Given the description of an element on the screen output the (x, y) to click on. 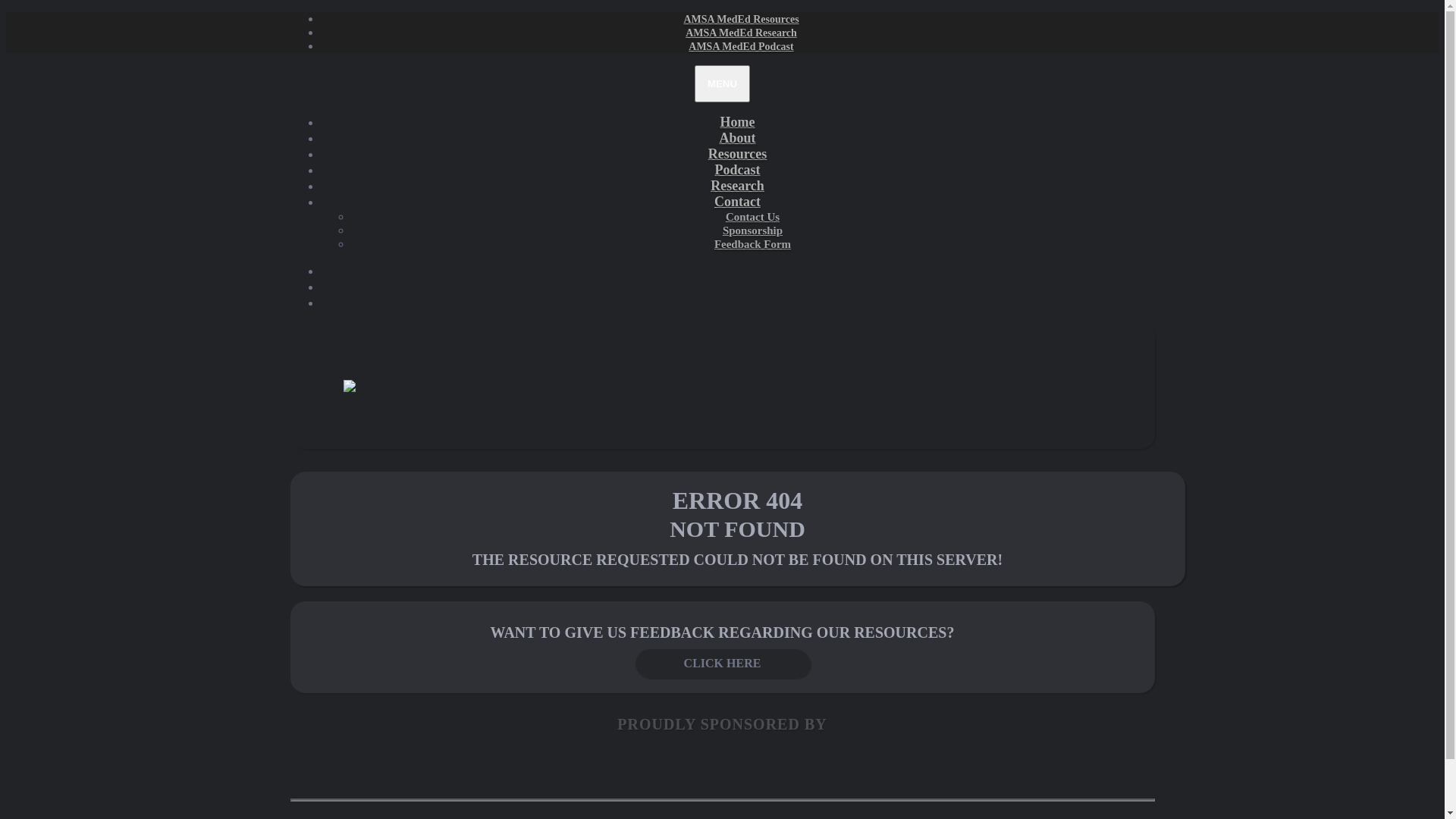
Podcast Element type: text (737, 169)
Feedback Form Element type: text (752, 244)
Research Element type: text (737, 185)
Contact Us Element type: text (752, 216)
Home Element type: text (737, 121)
Sponsorship Element type: text (752, 230)
Contact Element type: text (737, 201)
About Element type: text (736, 137)
MENU Element type: text (721, 83)
CLICK HERE Element type: text (722, 663)
AMSA MedEd Research Element type: text (740, 32)
Resources Element type: text (737, 153)
AMSA MedEd Podcast Element type: text (740, 46)
AMSA MedEd Resources Element type: text (740, 19)
